Given the description of an element on the screen output the (x, y) to click on. 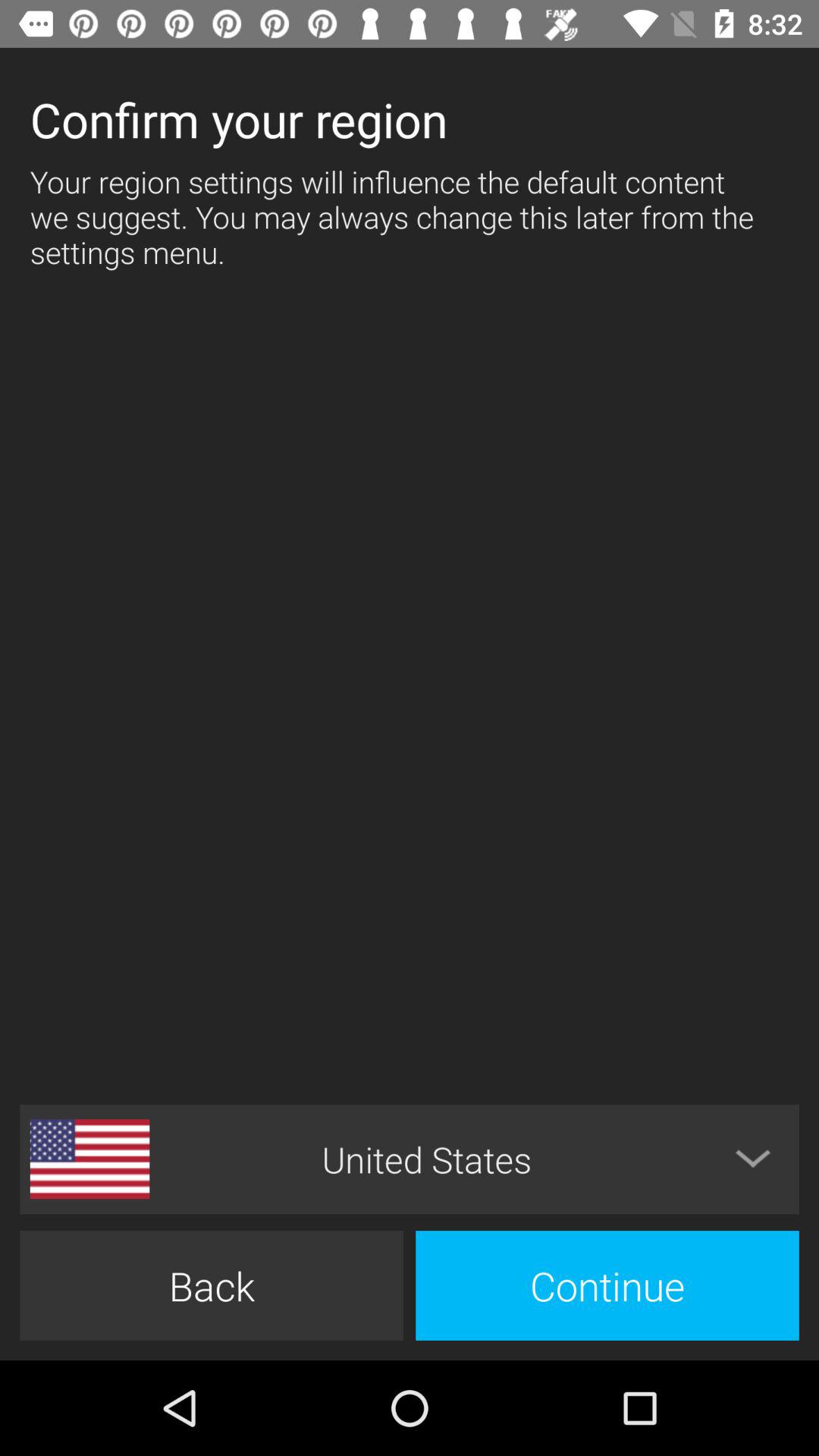
jump until continue item (607, 1285)
